Given the description of an element on the screen output the (x, y) to click on. 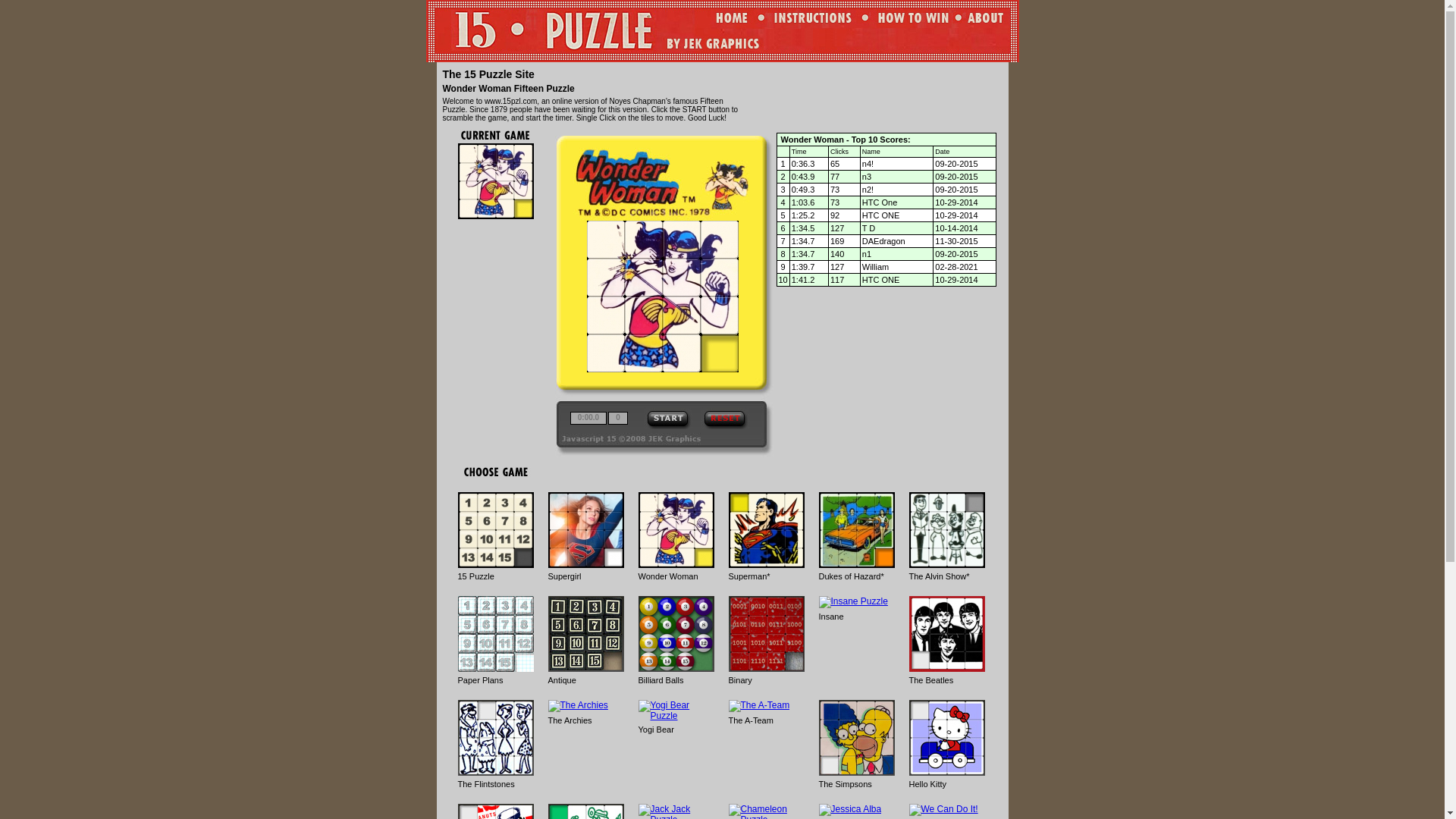
Traditional 15 Puzzle Element type: hover (495, 529)
Dukes of Hazard Puzzle Element type: hover (856, 529)
The Paper Plans Puzzle Element type: hover (495, 633)
Billiard Balls Element type: hover (676, 633)
Superman Puzzle Element type: hover (765, 529)
Insane Puzzle Element type: hover (853, 602)
We Can Do It! Element type: hover (942, 809)
Yogi Bear Puzzle Element type: hover (676, 710)
Wonder Woman Puzzle Element type: hover (676, 529)
The Alvin Show Puzzle Element type: hover (946, 529)
Hello Kitty Element type: hover (946, 737)
The Flintstones Puzzle Element type: hover (495, 737)
The Simpsons Puzzle Element type: hover (856, 737)
The Archies Element type: hover (577, 705)
Supergirl Puzzle Element type: hover (585, 529)
The A-Team Element type: hover (758, 705)
Jessica Alba Element type: hover (850, 809)
The Beatles Puzzle Element type: hover (946, 633)
Antique Puzzle Element type: hover (585, 633)
Binary Puzzle Element type: hover (765, 633)
